Given the description of an element on the screen output the (x, y) to click on. 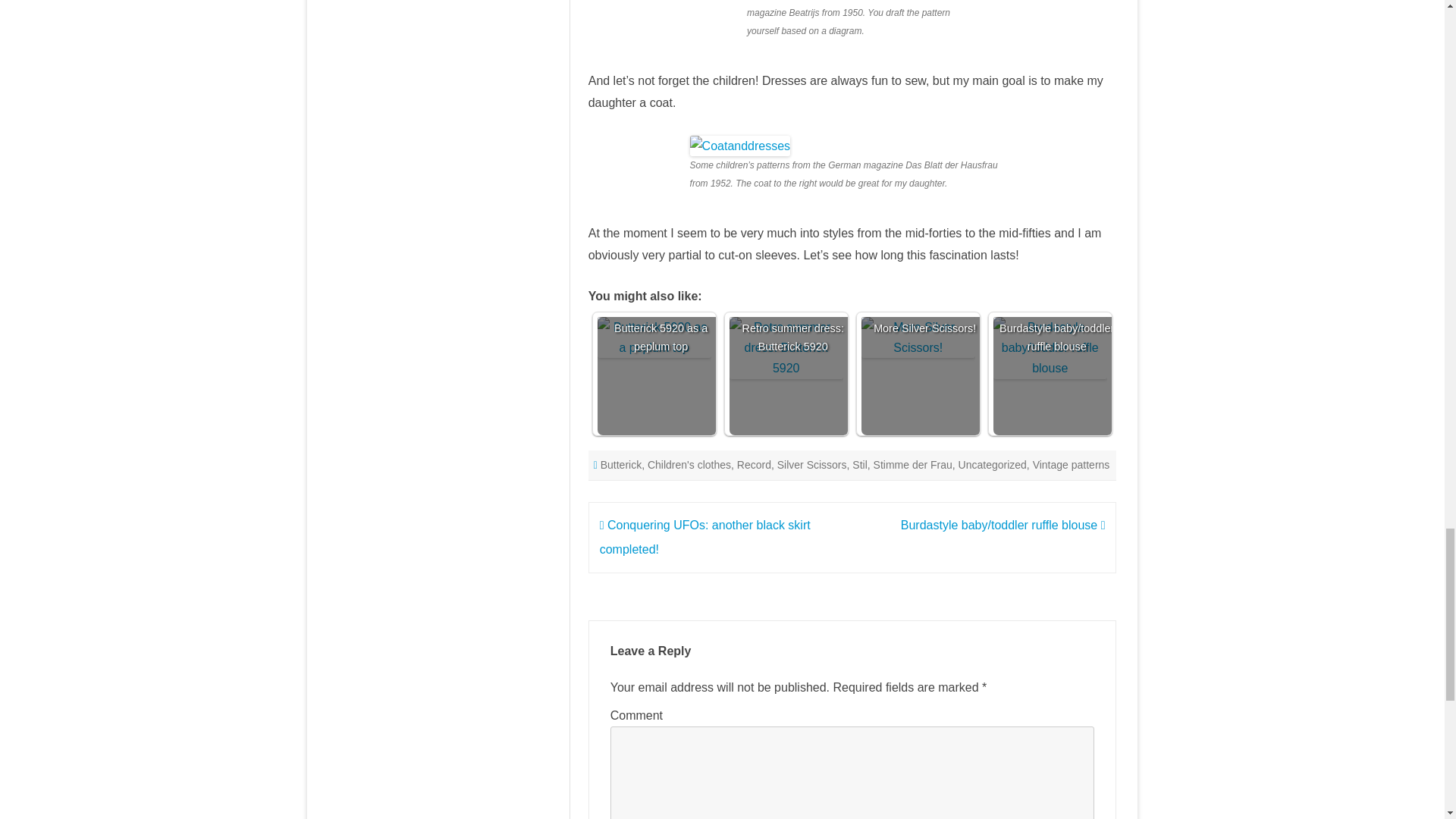
Retro summer dress: Butterick 5920 (786, 347)
Butterick (620, 464)
Retro summer dress: Butterick 5920 (793, 375)
More Silver Scissors! (918, 337)
Butterick 5920 as a peplum top (660, 375)
More Silver Scissors! (924, 375)
Butterick 5920 as a peplum top (653, 337)
